Given the description of an element on the screen output the (x, y) to click on. 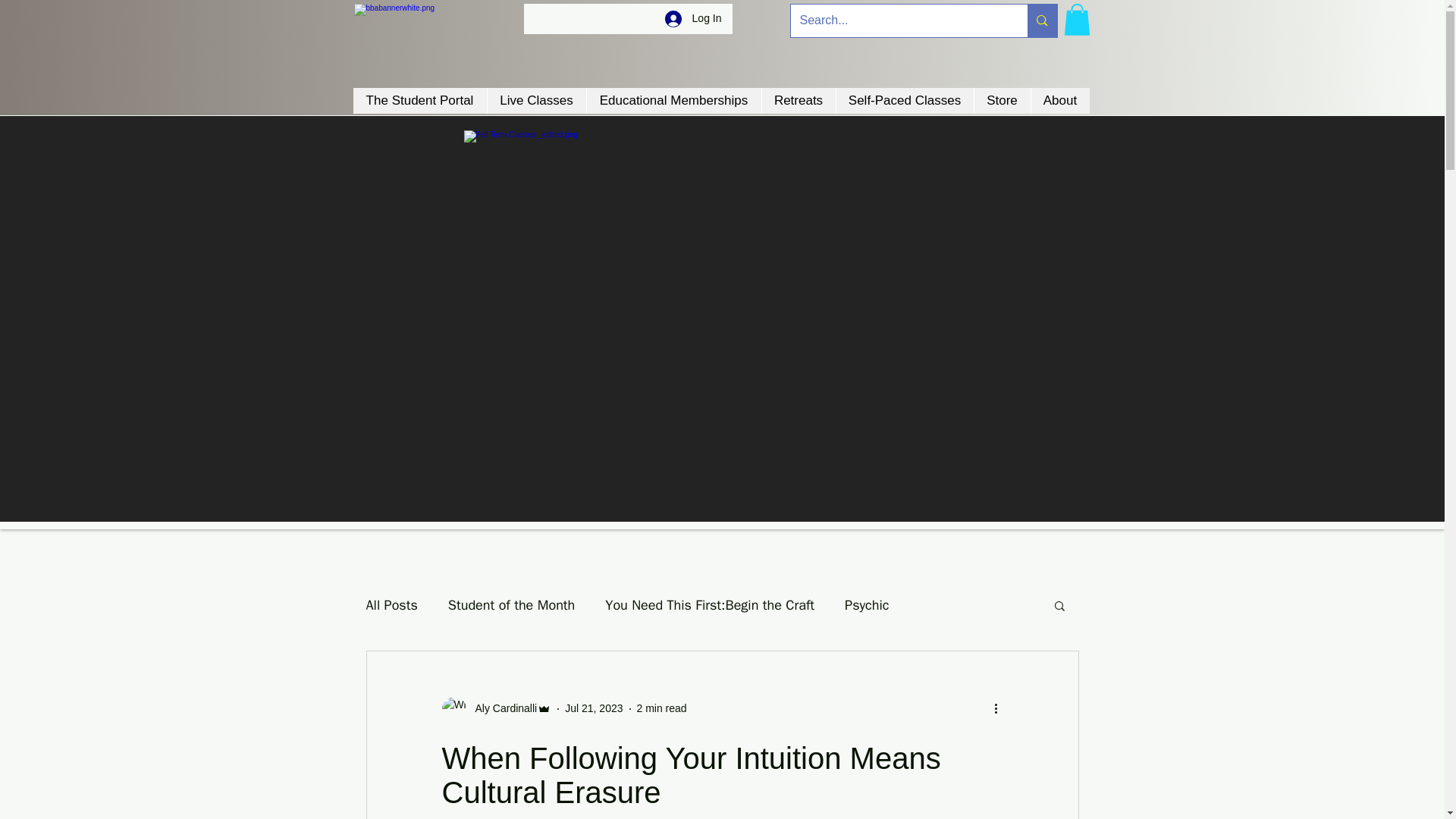
Jul 21, 2023 (593, 707)
2 min read (662, 707)
The Student Portal (419, 100)
Aly Cardinalli (501, 708)
Log In (692, 18)
